Given the description of an element on the screen output the (x, y) to click on. 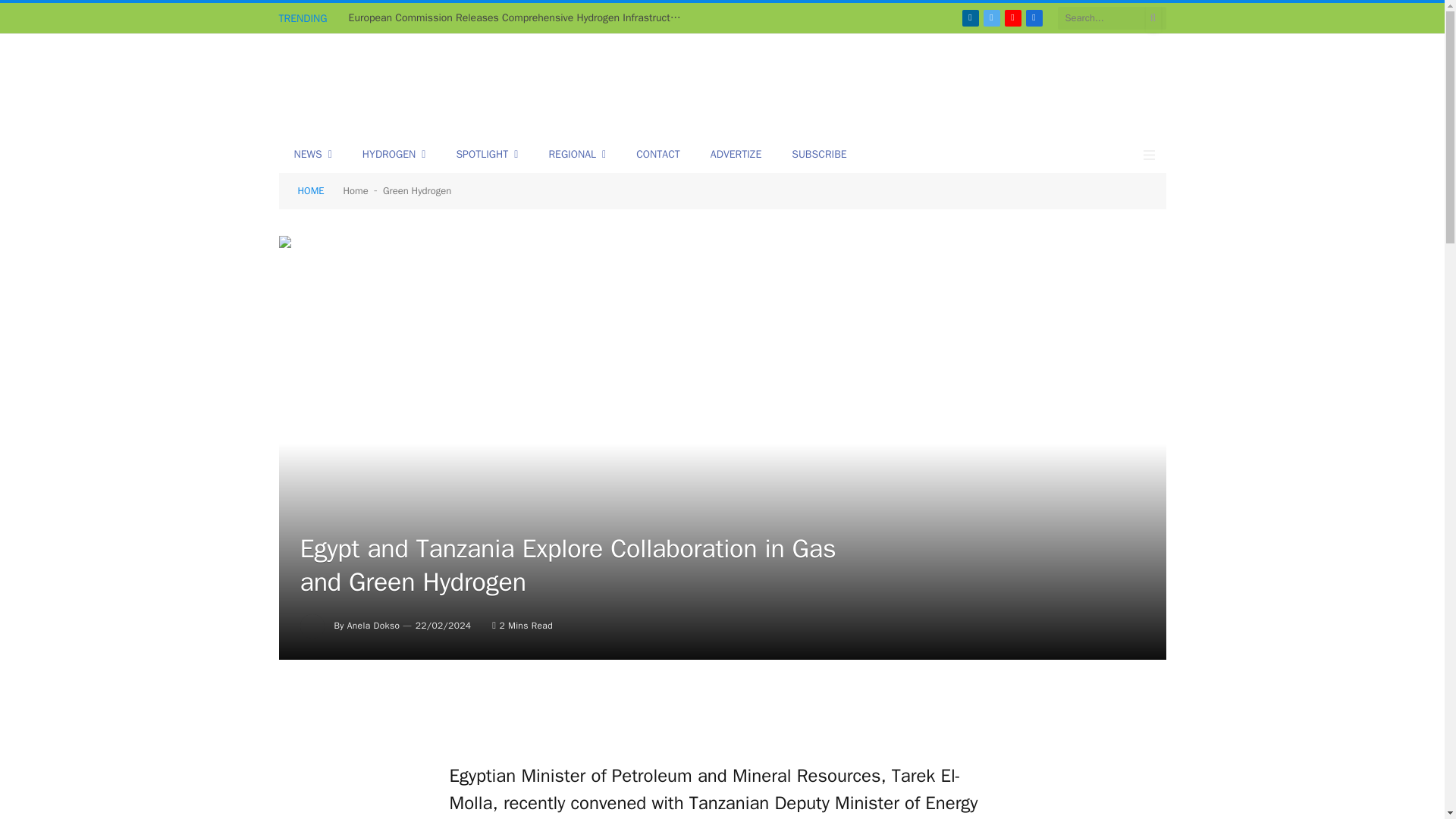
Green Hydrogen News (430, 85)
Posts by Anela Dokso (373, 625)
